Given the description of an element on the screen output the (x, y) to click on. 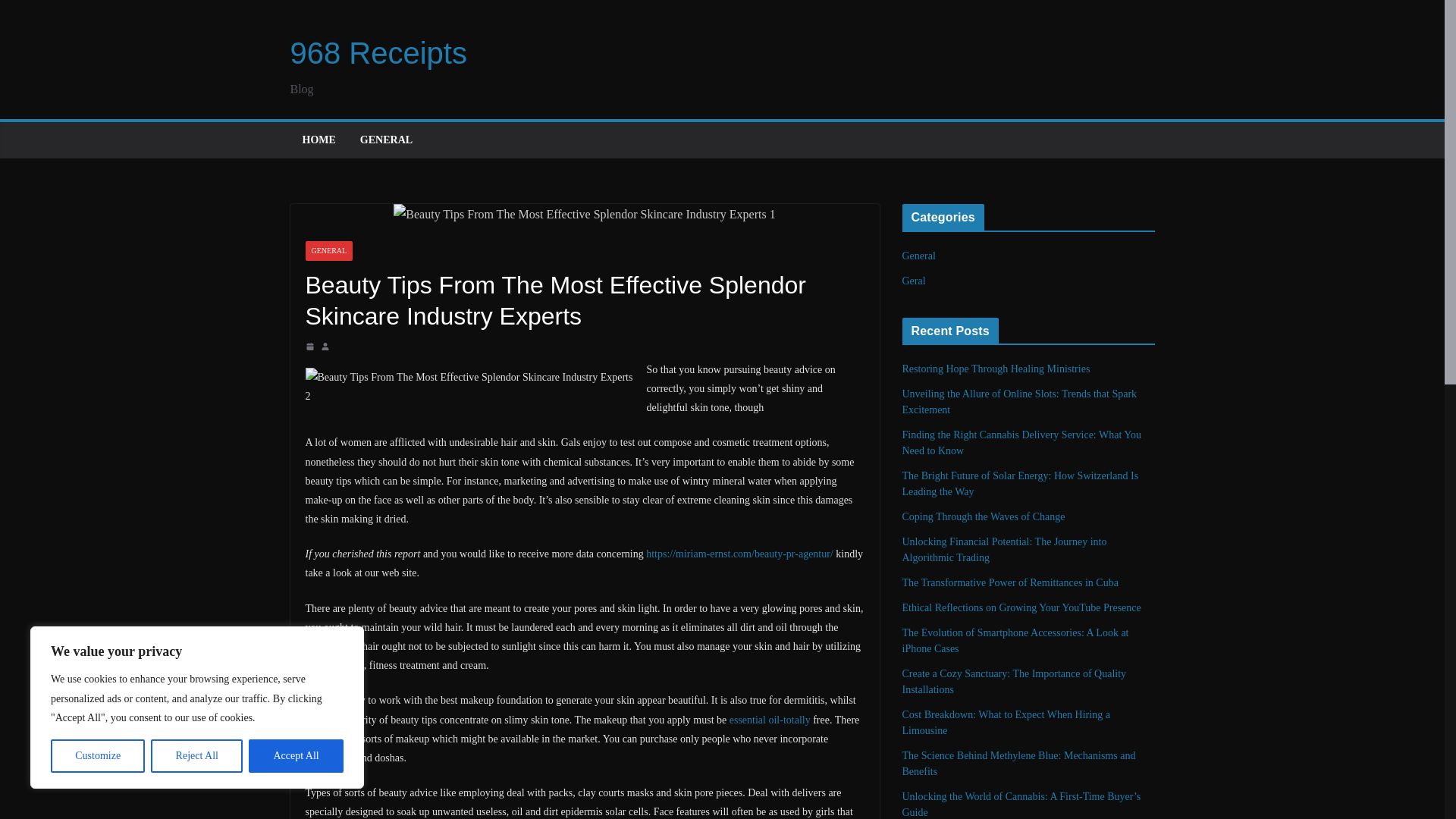
GENERAL (385, 139)
The Transformative Power of Remittances in Cuba (1010, 582)
Accept All (295, 756)
Geral (914, 280)
Restoring Hope Through Healing Ministries (996, 368)
essential oil-totally (769, 719)
HOME (317, 139)
